Given the description of an element on the screen output the (x, y) to click on. 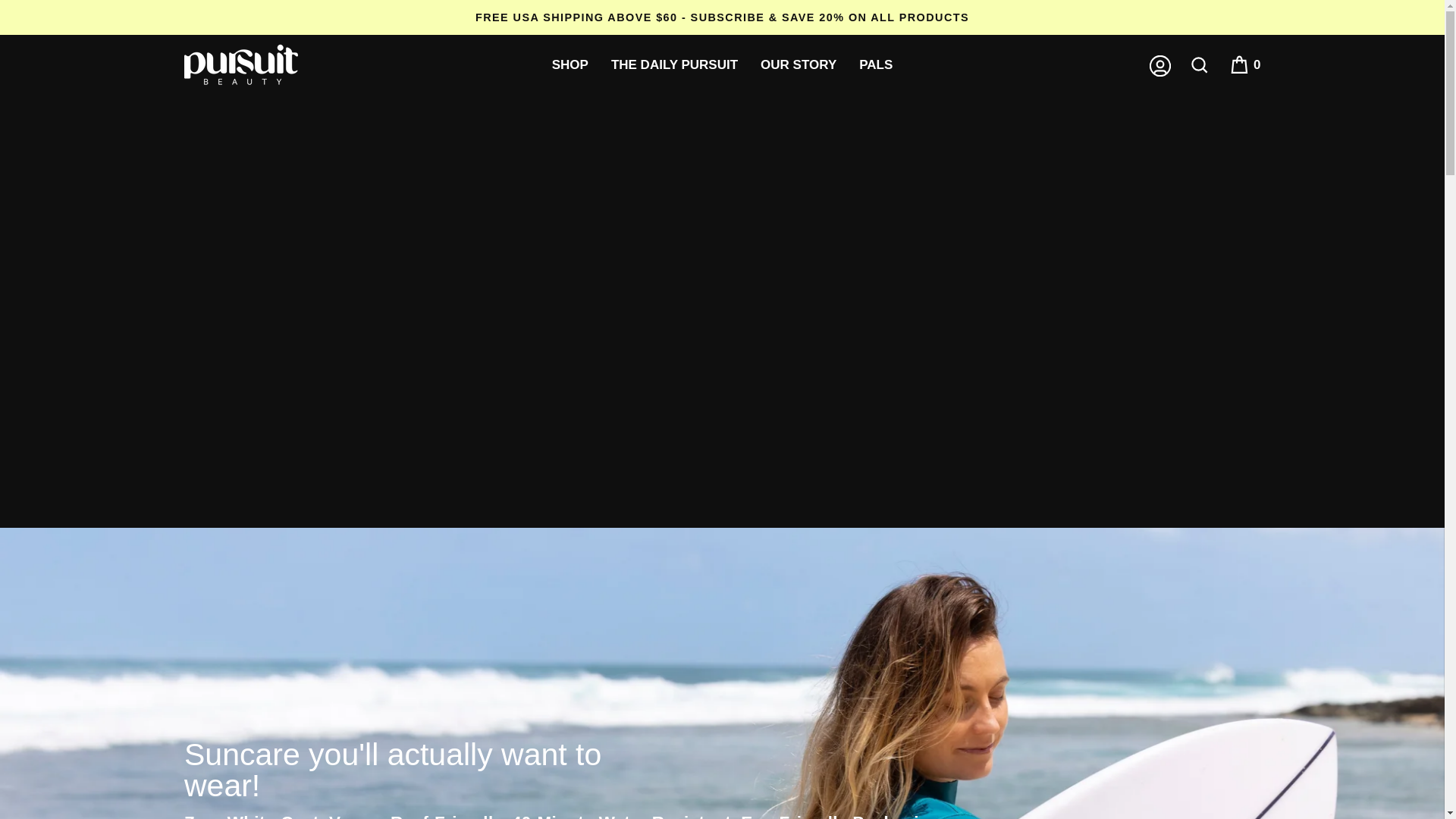
PALS (875, 65)
SHOP (569, 65)
THE DAILY PURSUIT (674, 65)
OUR STORY (798, 65)
